Given the description of an element on the screen output the (x, y) to click on. 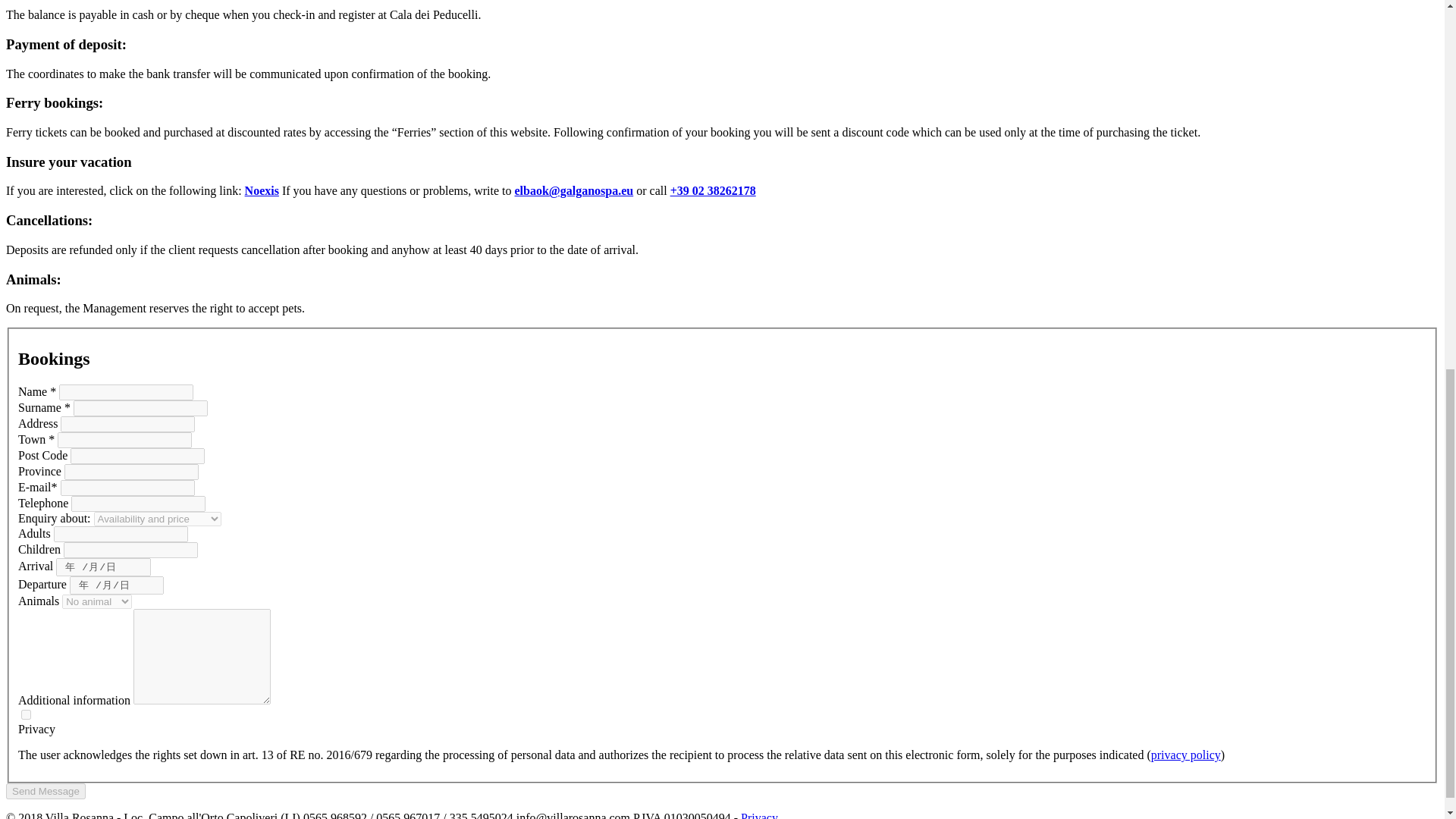
ON (25, 714)
Noexis (261, 190)
Send Message (45, 790)
privacy policy (1186, 754)
